Given the description of an element on the screen output the (x, y) to click on. 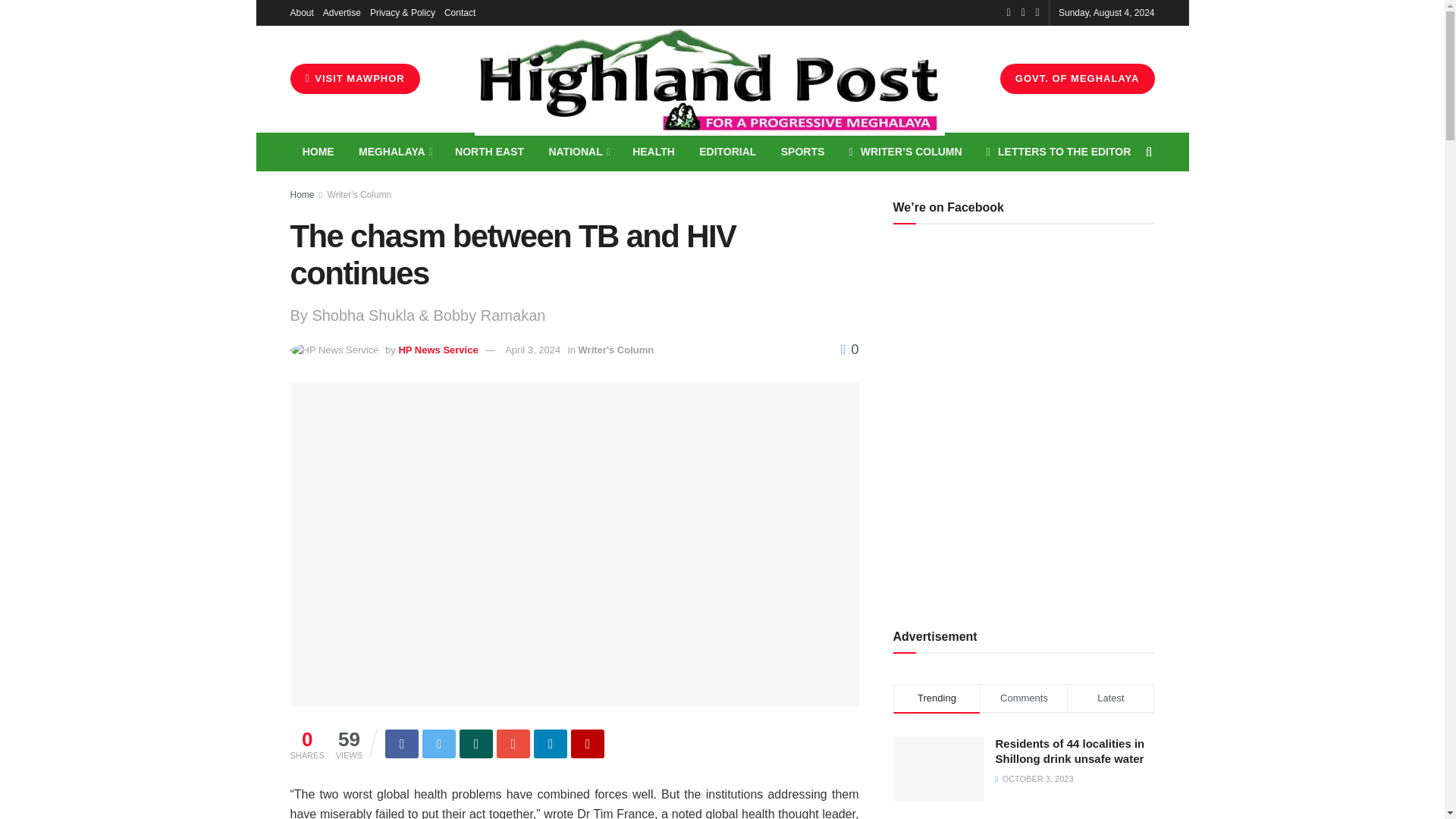
MEGHALAYA (394, 151)
VISIT MAWPHOR (354, 78)
About (301, 12)
Contact (460, 12)
HOME (317, 151)
Advertise (342, 12)
GOVT. OF MEGHALAYA (1077, 78)
